Given the description of an element on the screen output the (x, y) to click on. 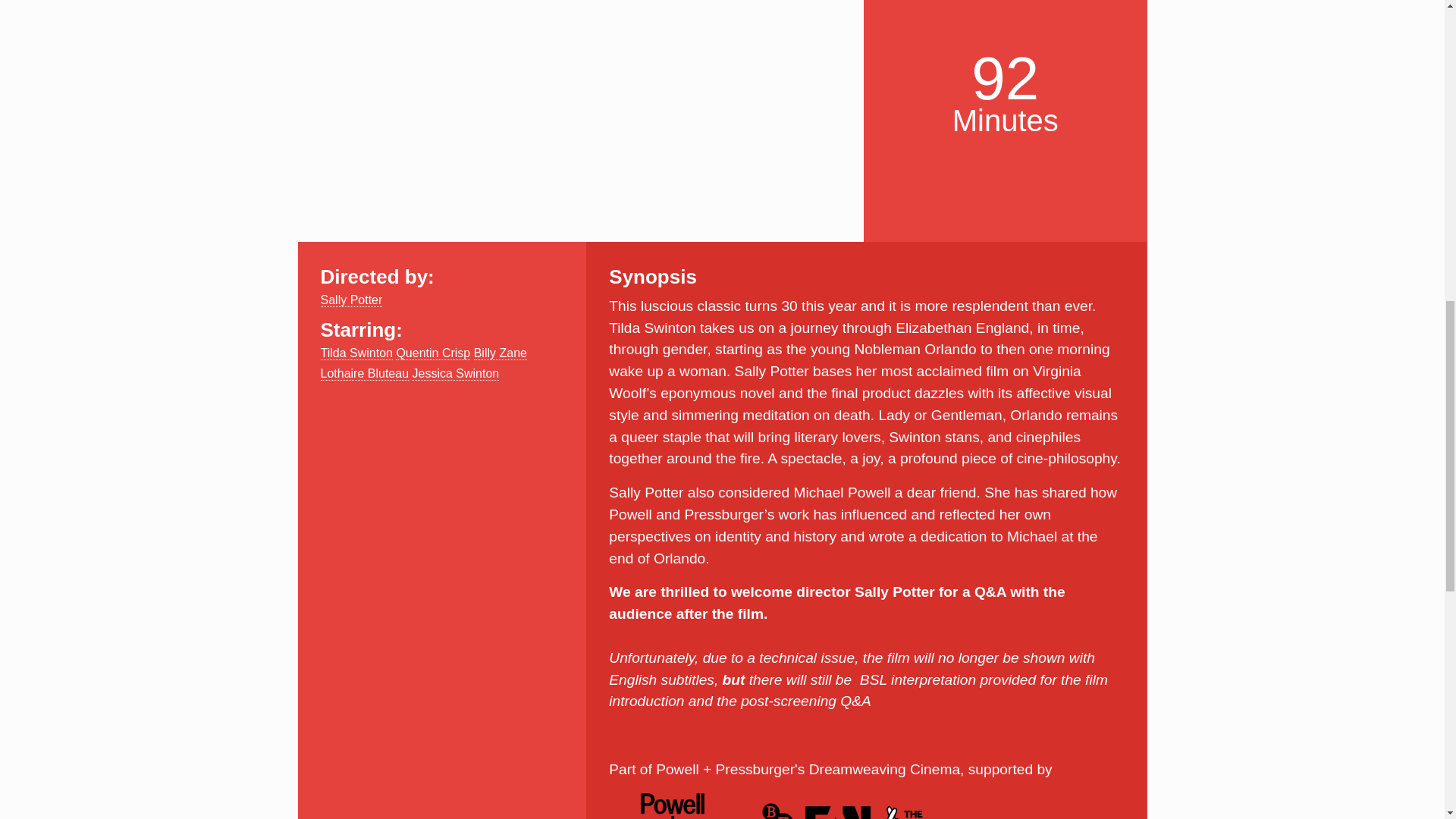
Tilda Swinton (355, 352)
Sally Potter (350, 300)
Quentin Crisp (433, 352)
Jessica Swinton (455, 373)
Billy Zane (500, 352)
Lothaire Bluteau (364, 373)
